Given the description of an element on the screen output the (x, y) to click on. 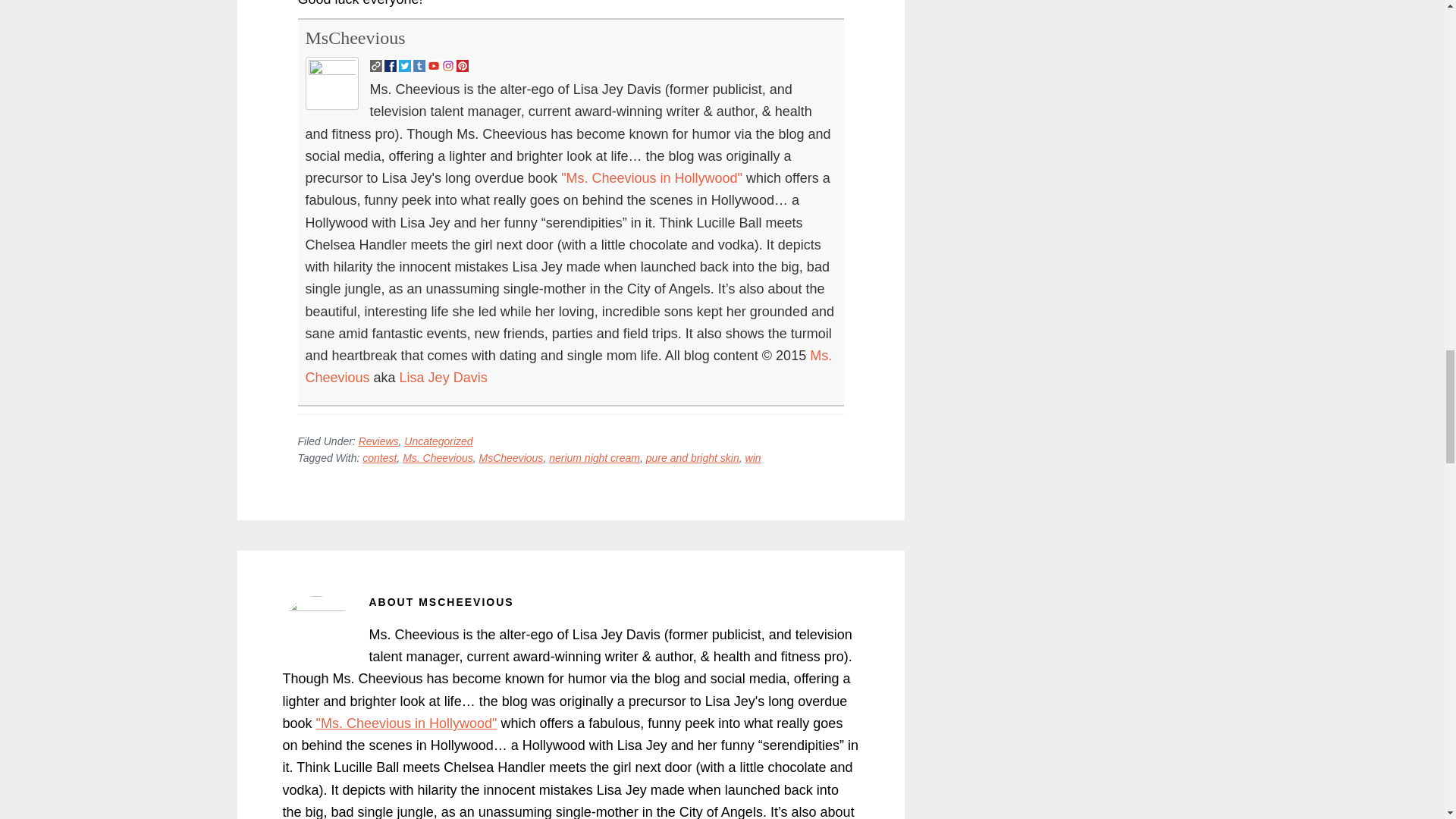
"Ms. Cheevious in Hollywood" (651, 177)
Uncategorized (437, 440)
All posts by MsCheevious (354, 37)
contest (379, 458)
MsCheevious (354, 37)
Lisa Jey Davis (442, 377)
Reviews (378, 440)
Ms. Cheevious (567, 366)
